Given the description of an element on the screen output the (x, y) to click on. 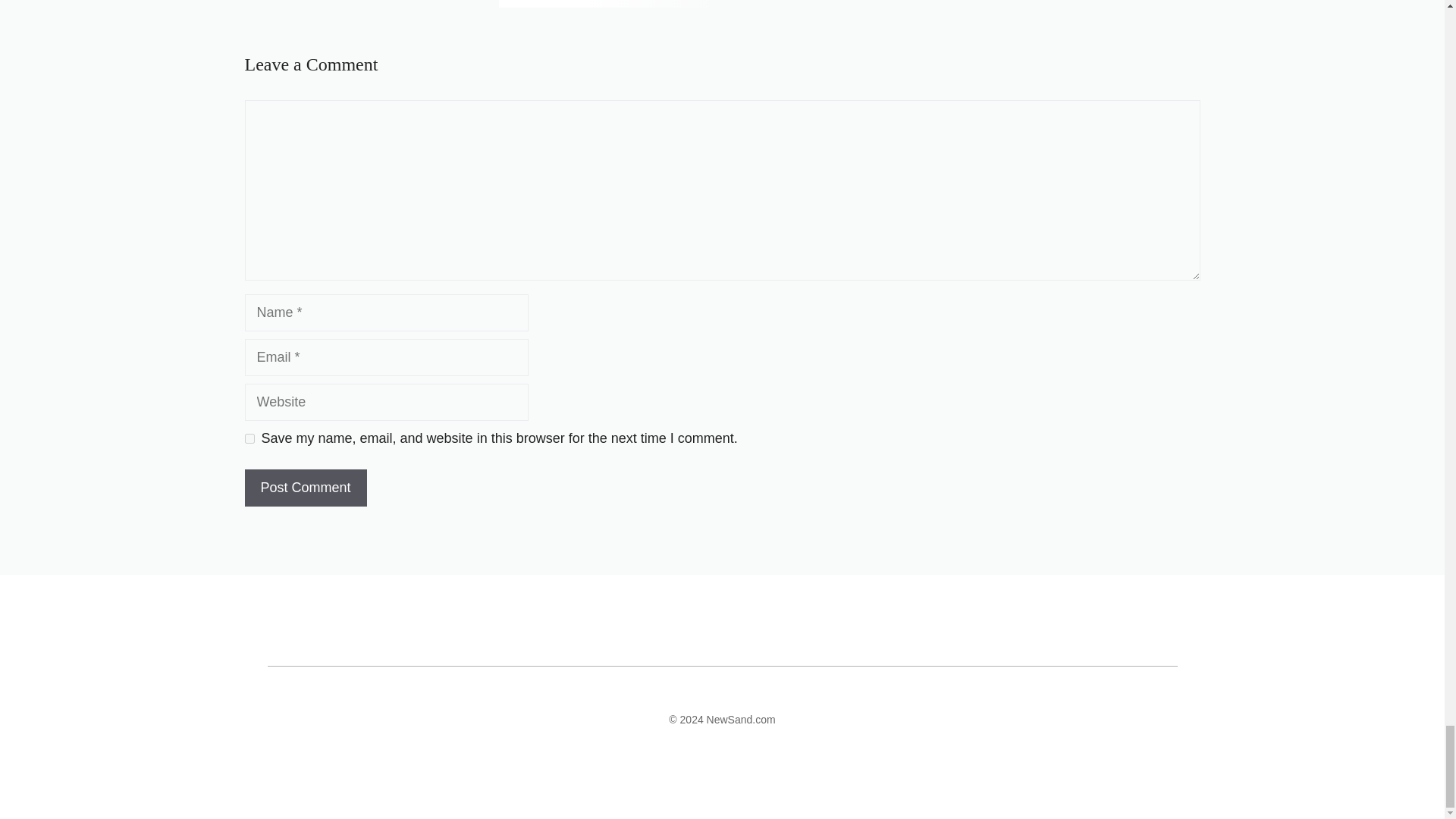
Post Comment (305, 487)
yes (248, 438)
Post Comment (305, 487)
